Given the description of an element on the screen output the (x, y) to click on. 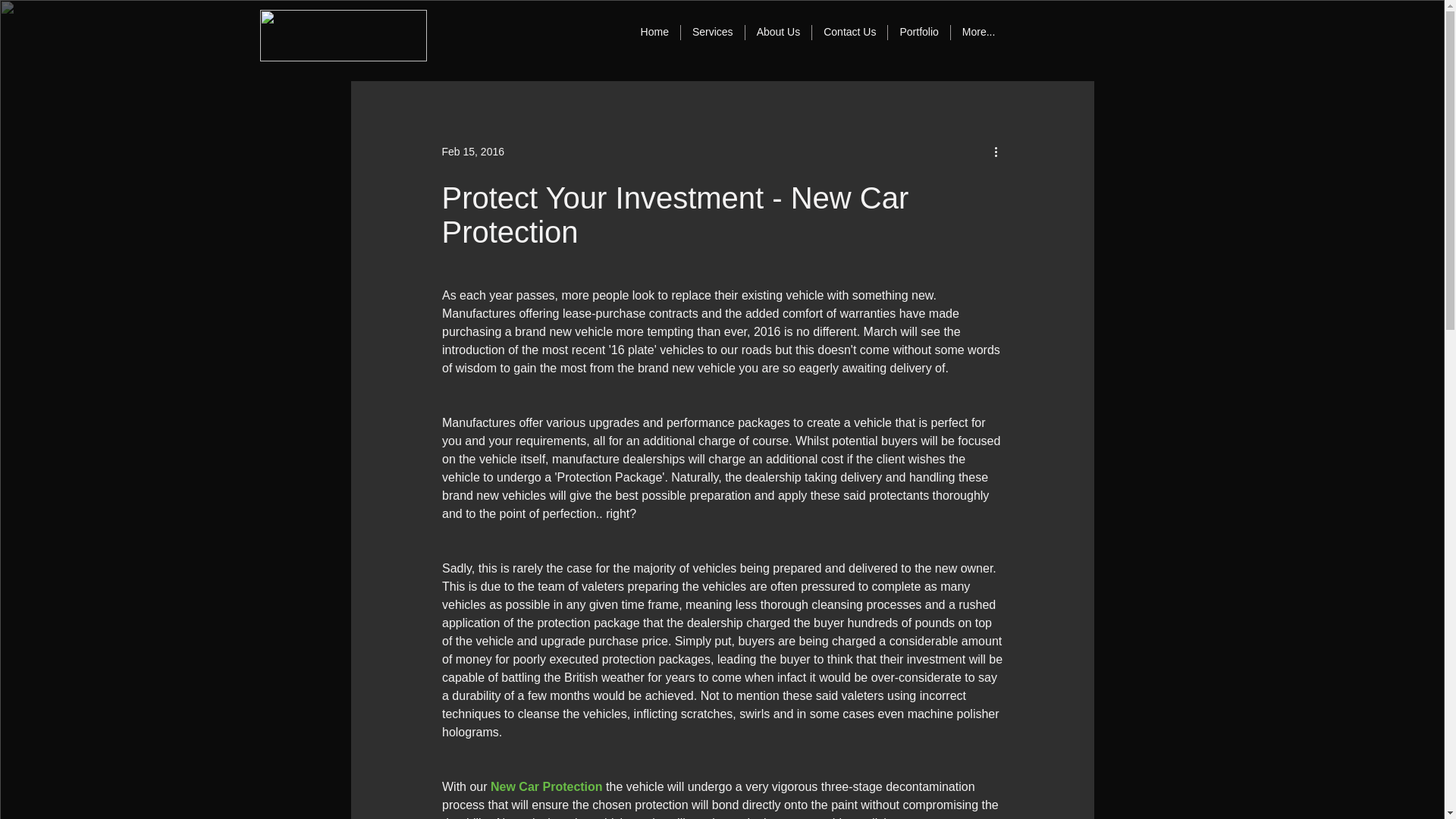
New Car Protection (546, 786)
About Us (778, 36)
Services (711, 36)
Portfolio (917, 36)
Feb 15, 2016 (472, 151)
Home (653, 36)
Contact Us (848, 36)
